Given the description of an element on the screen output the (x, y) to click on. 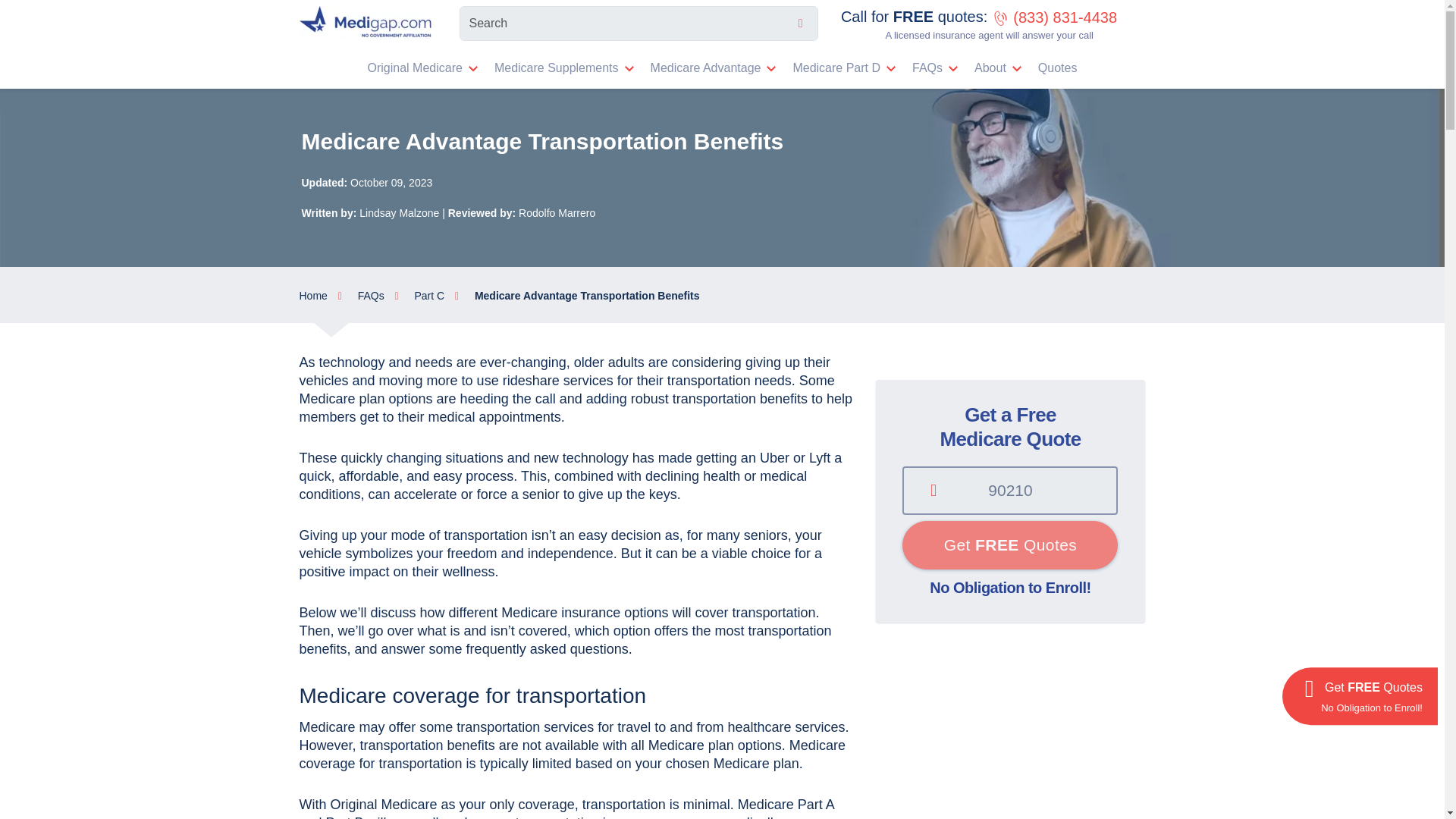
Medicare Supplements (555, 67)
Toggle Dropend (477, 67)
Original Medicare (414, 67)
Original Medicare (414, 67)
Medicare Supplements (555, 67)
Toggle Dropend (776, 67)
Medicare Advantage (706, 67)
90210 (1010, 490)
Toggle Dropend (634, 67)
